Given the description of an element on the screen output the (x, y) to click on. 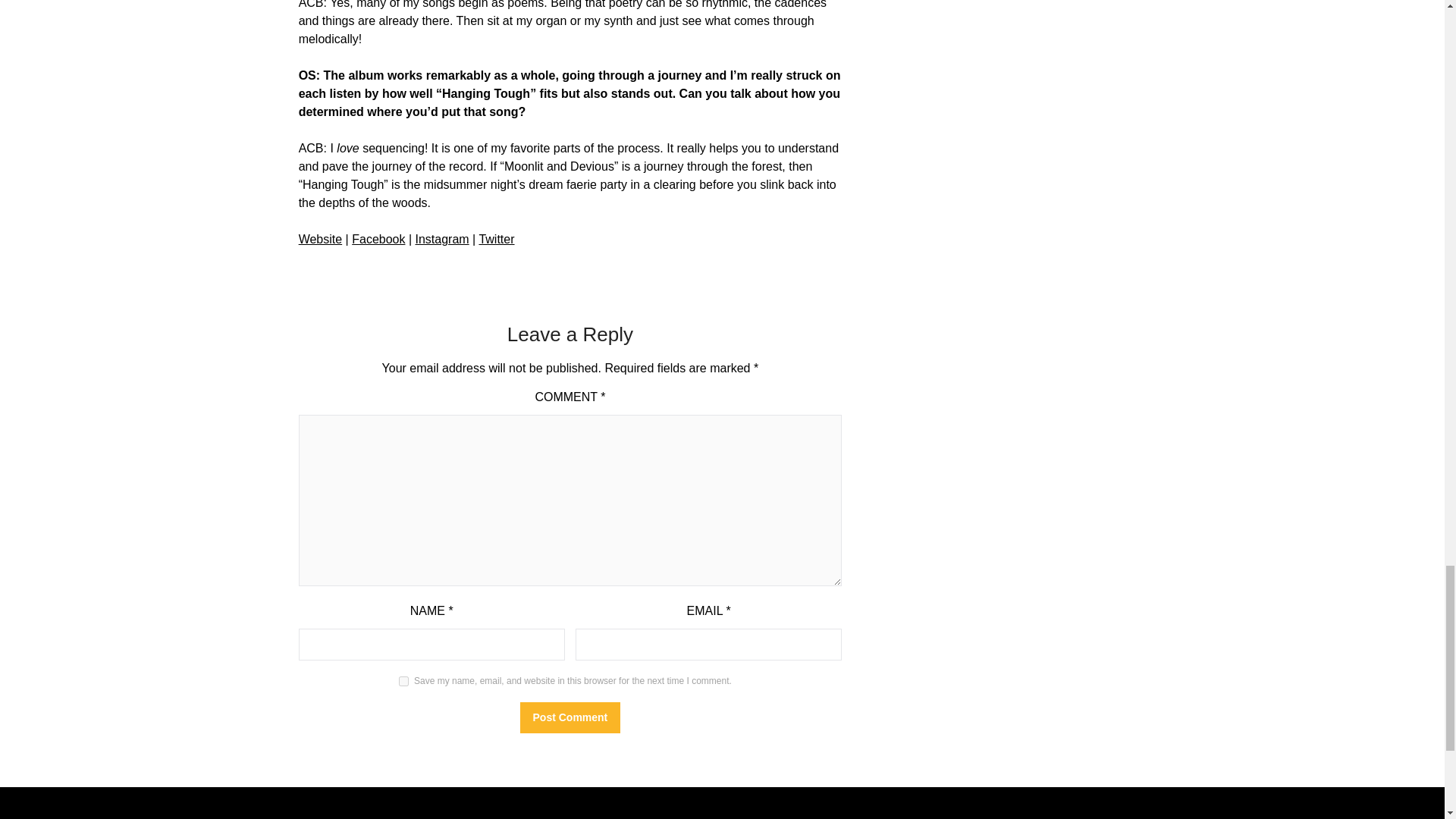
Post Comment (570, 717)
Instagram (441, 238)
yes (403, 681)
Twitter (496, 238)
Website (320, 238)
Post Comment (570, 717)
Facebook (378, 238)
